Given the description of an element on the screen output the (x, y) to click on. 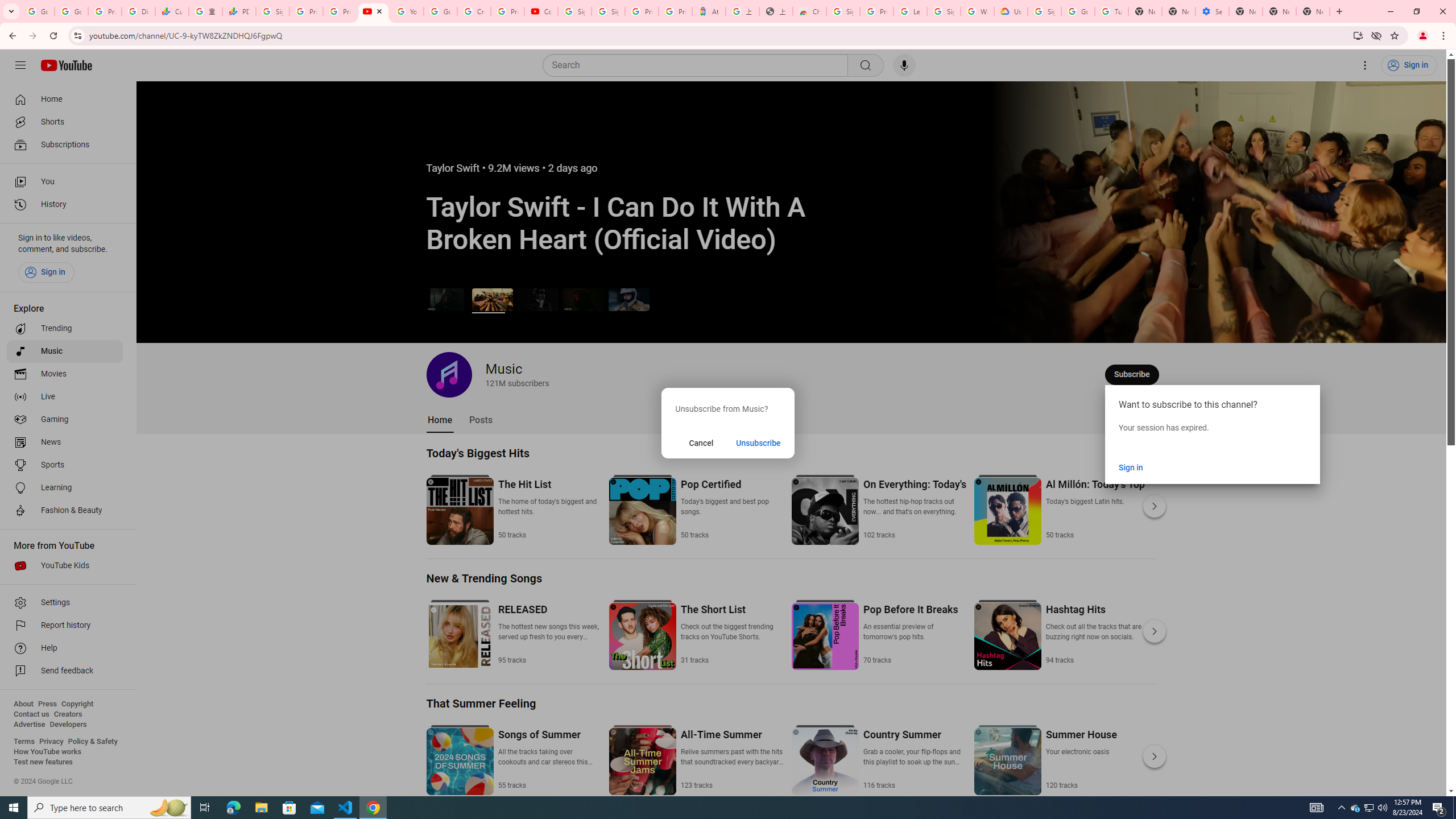
Contact us (31, 714)
Learning (64, 487)
Subscribe to Music. (1131, 374)
Who are Google's partners? - Privacy and conditions - Google (976, 11)
